Given the description of an element on the screen output the (x, y) to click on. 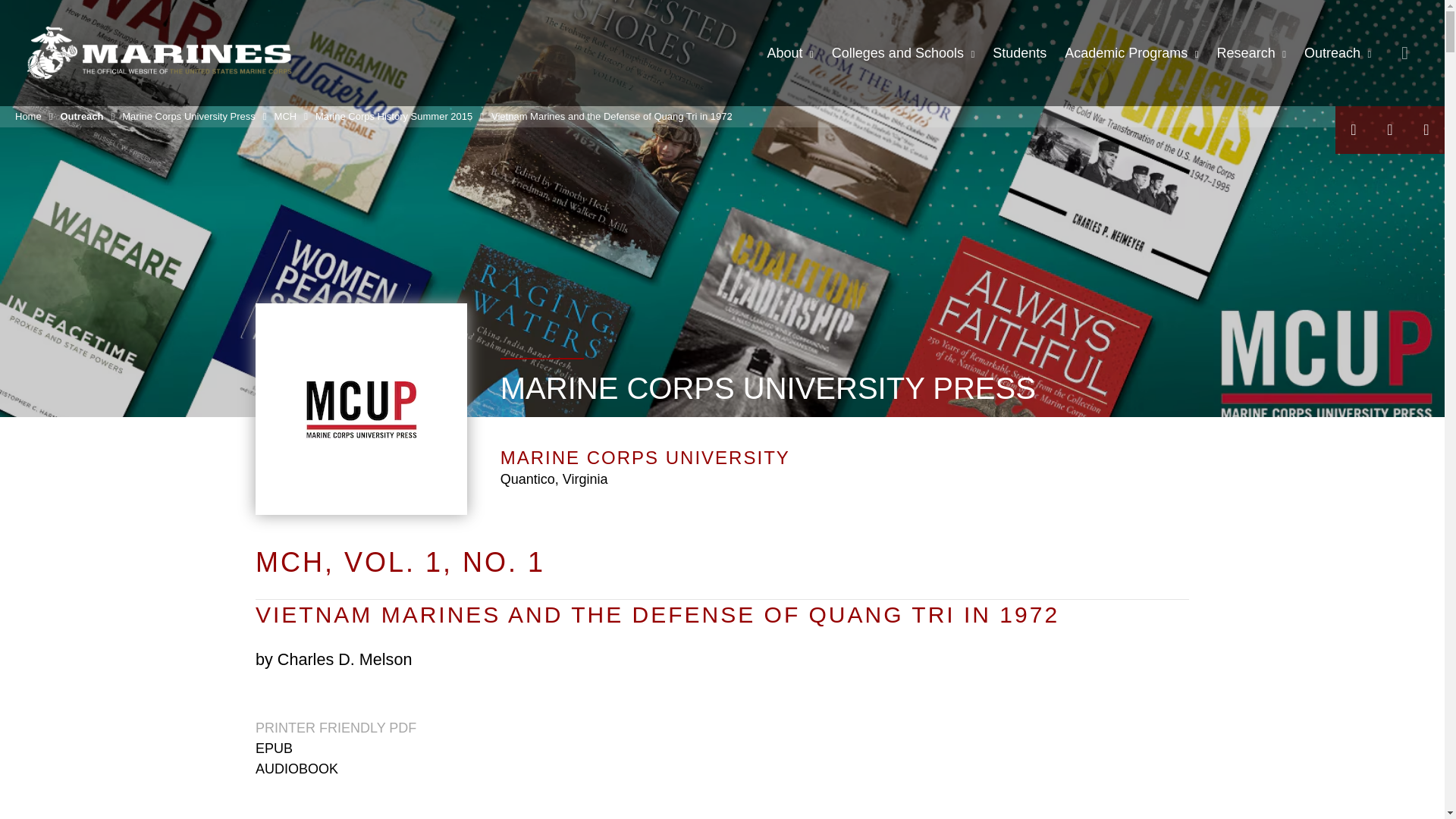
Facebook (1353, 129)
Marine Corps University (159, 52)
X (1389, 129)
